Given the description of an element on the screen output the (x, y) to click on. 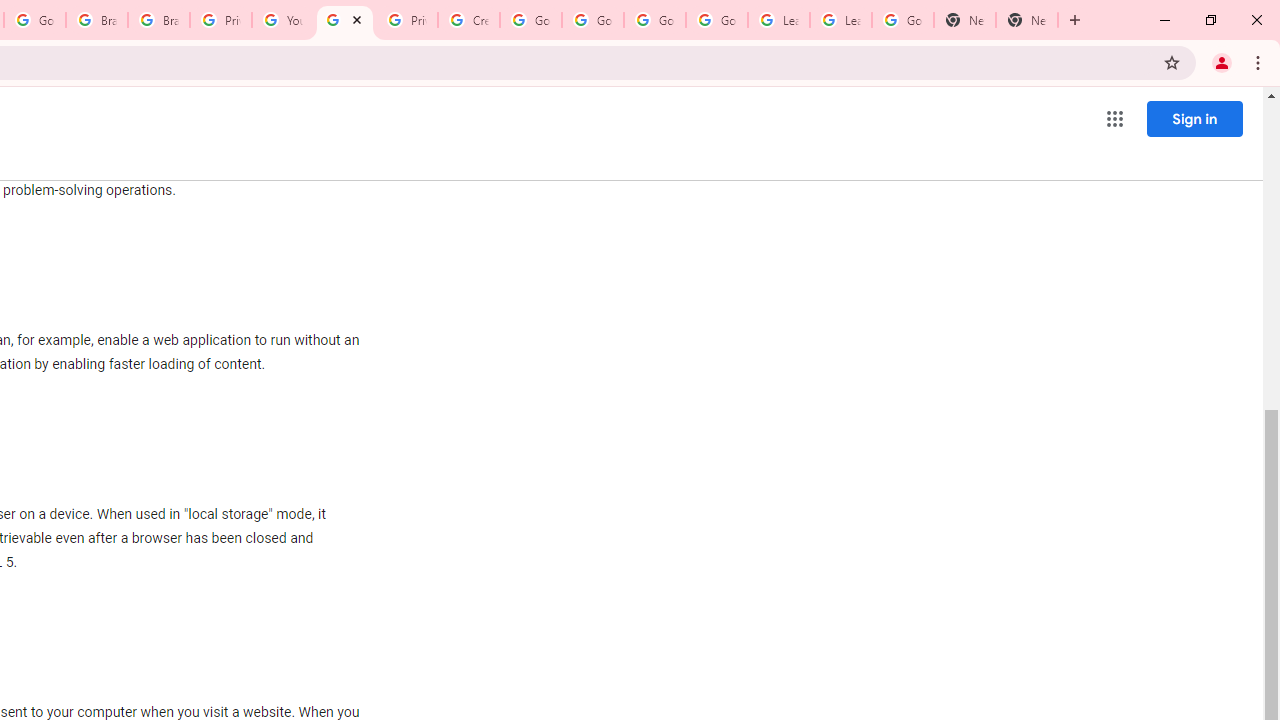
Google Account (902, 20)
New Tab (964, 20)
Google Account Help (592, 20)
Brand Resource Center (158, 20)
